Given the description of an element on the screen output the (x, y) to click on. 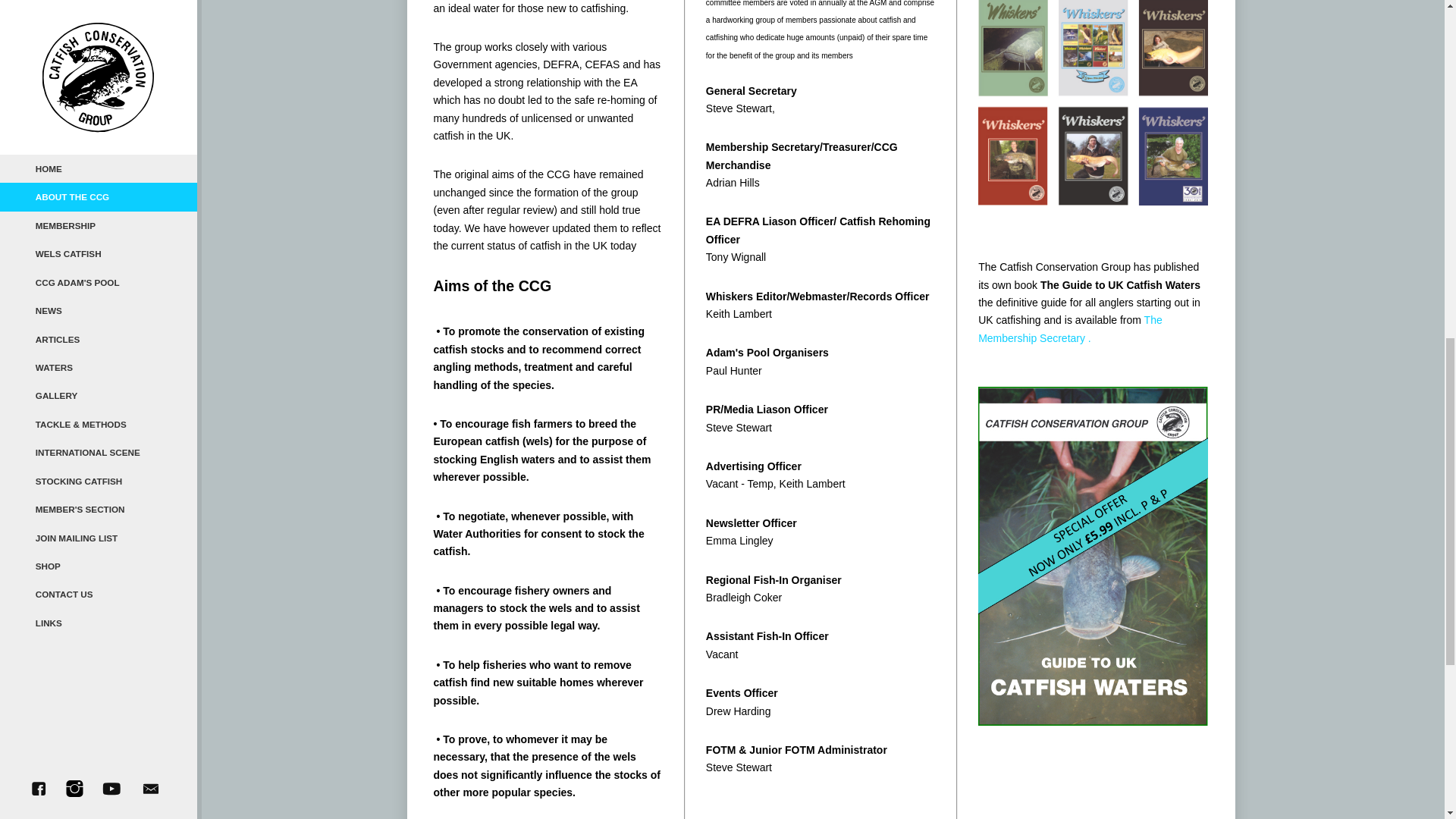
The Membership Secretary . (1069, 328)
